Given the description of an element on the screen output the (x, y) to click on. 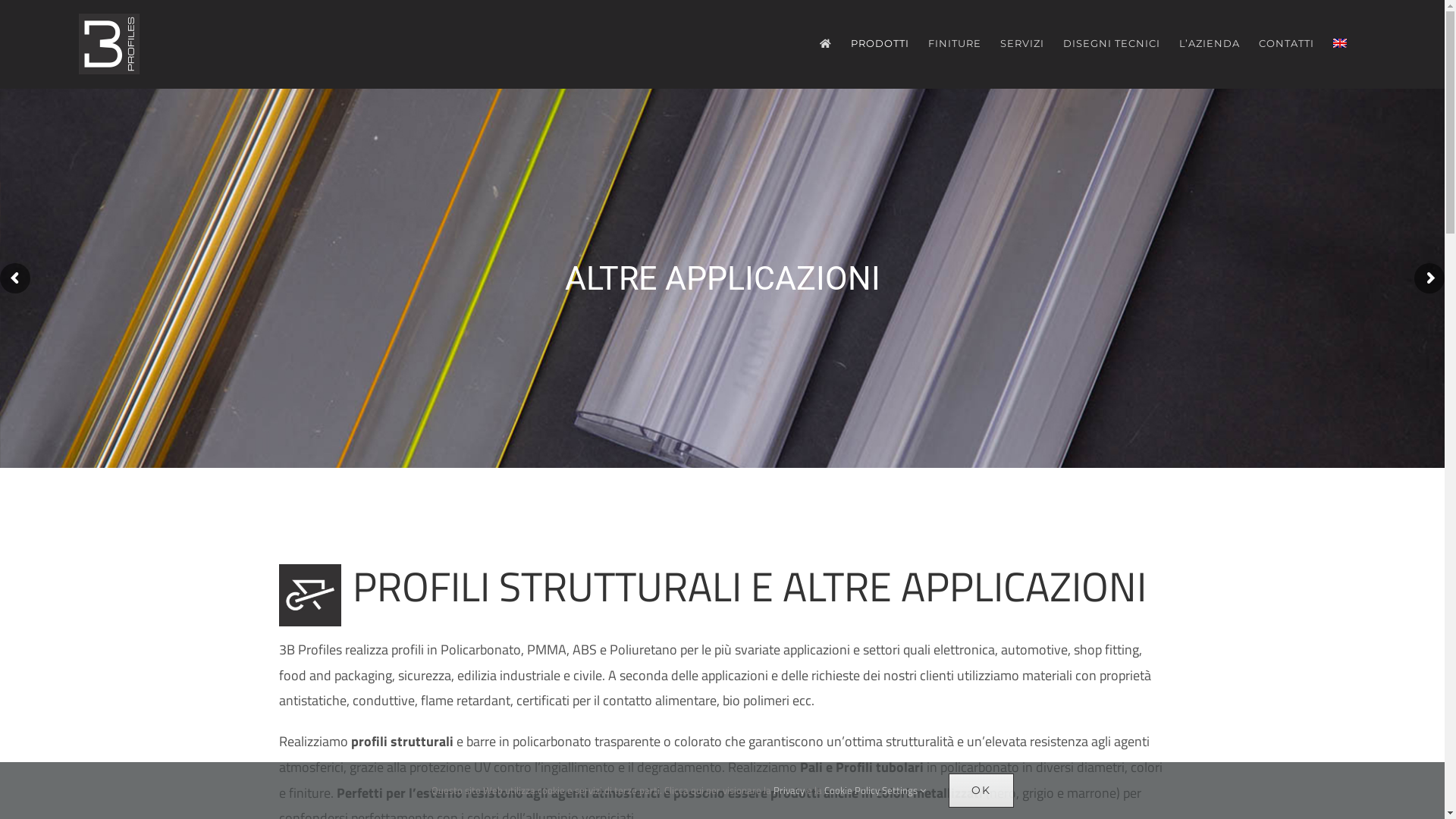
Cookie Policy Element type: text (850, 789)
OK Element type: text (980, 790)
SERVIZI Element type: text (1022, 42)
CONTATTI Element type: text (1286, 42)
Settings Element type: text (903, 789)
Privacy Element type: text (788, 789)
PRODOTTI Element type: text (879, 42)
FINITURE Element type: text (954, 42)
DISEGNI TECNICI Element type: text (1111, 42)
